Given the description of an element on the screen output the (x, y) to click on. 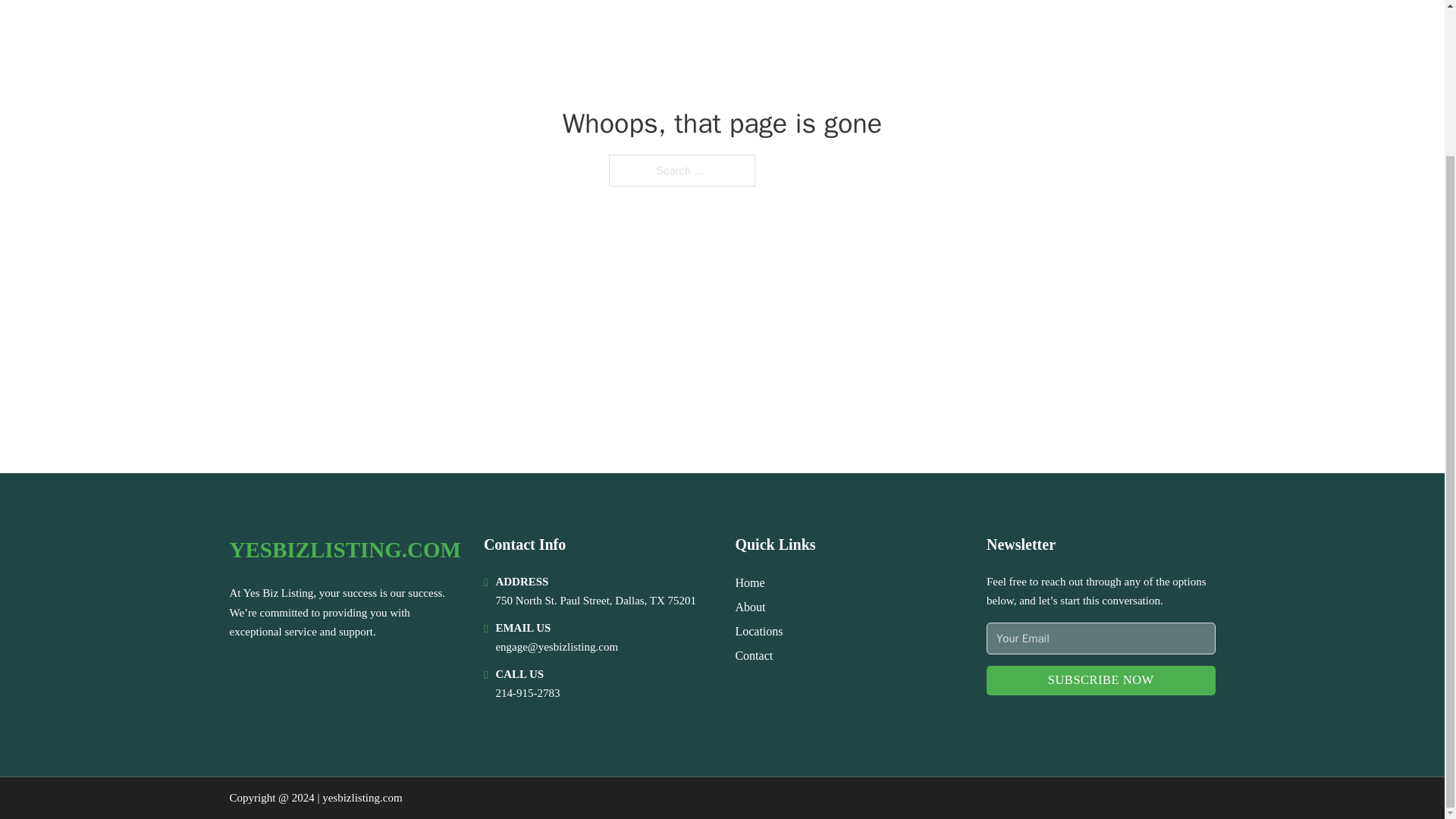
Home (749, 582)
214-915-2783 (527, 693)
YESBIZLISTING.COM (344, 549)
About (750, 607)
Contact (754, 655)
SUBSCRIBE NOW (1101, 680)
Locations (759, 630)
